Given the description of an element on the screen output the (x, y) to click on. 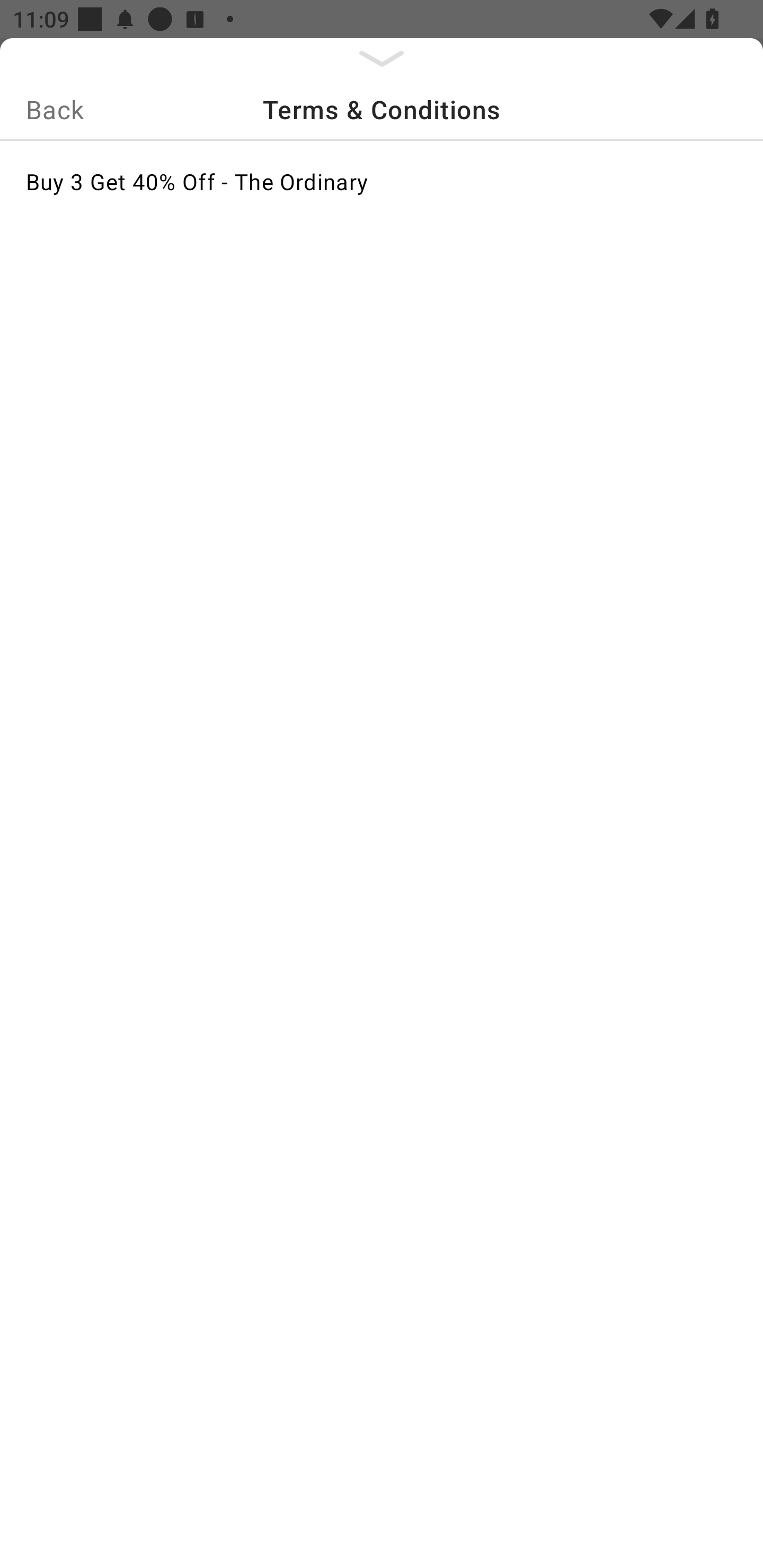
Back (54, 109)
